Given the description of an element on the screen output the (x, y) to click on. 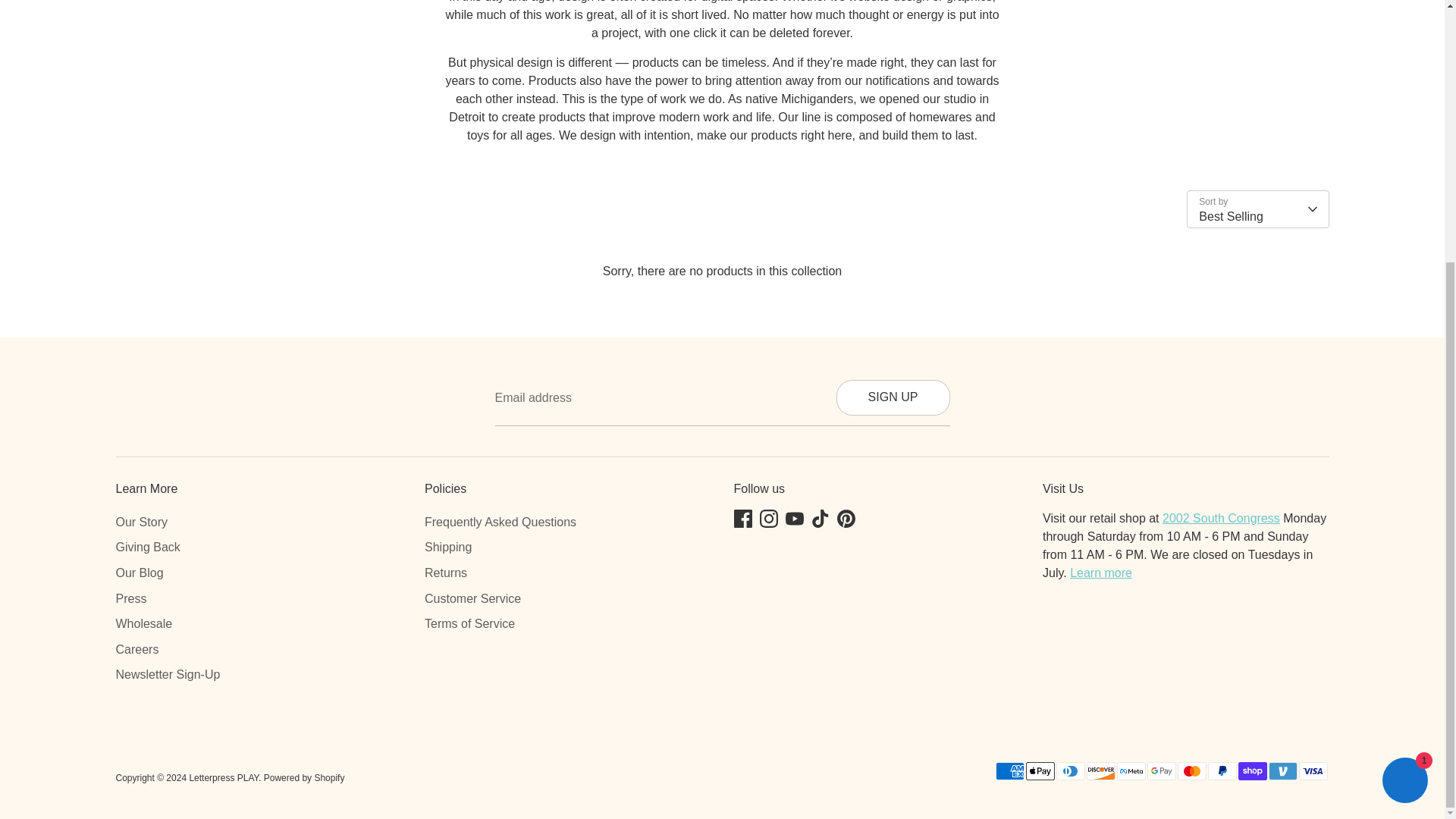
American Express (1008, 771)
Shopify online store chat (1404, 404)
Apple Pay (1039, 771)
Visit Us (1101, 572)
